Given the description of an element on the screen output the (x, y) to click on. 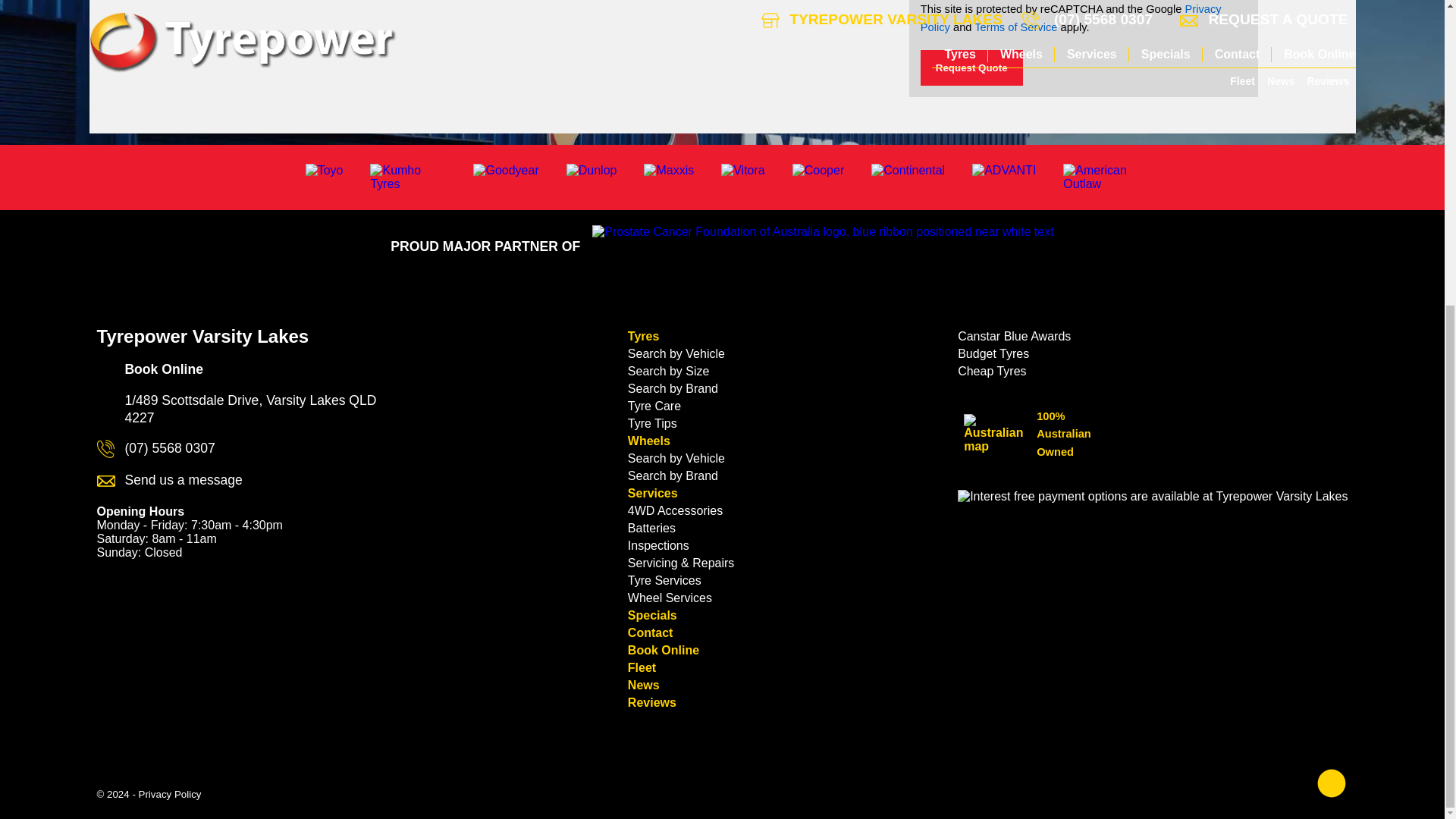
Link to Facebook social media. (1332, 784)
